Given the description of an element on the screen output the (x, y) to click on. 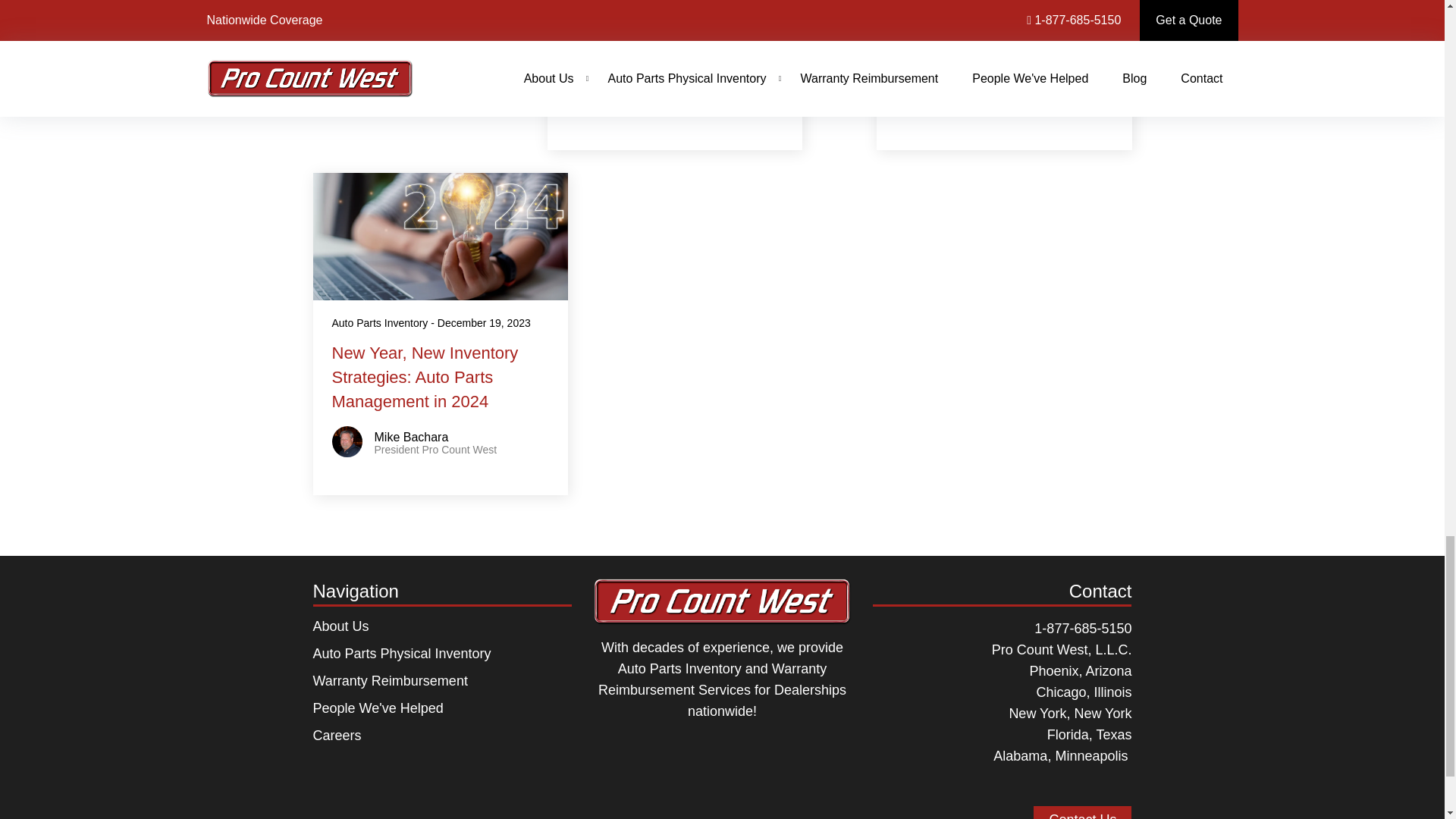
Pro Count West (721, 607)
